Given the description of an element on the screen output the (x, y) to click on. 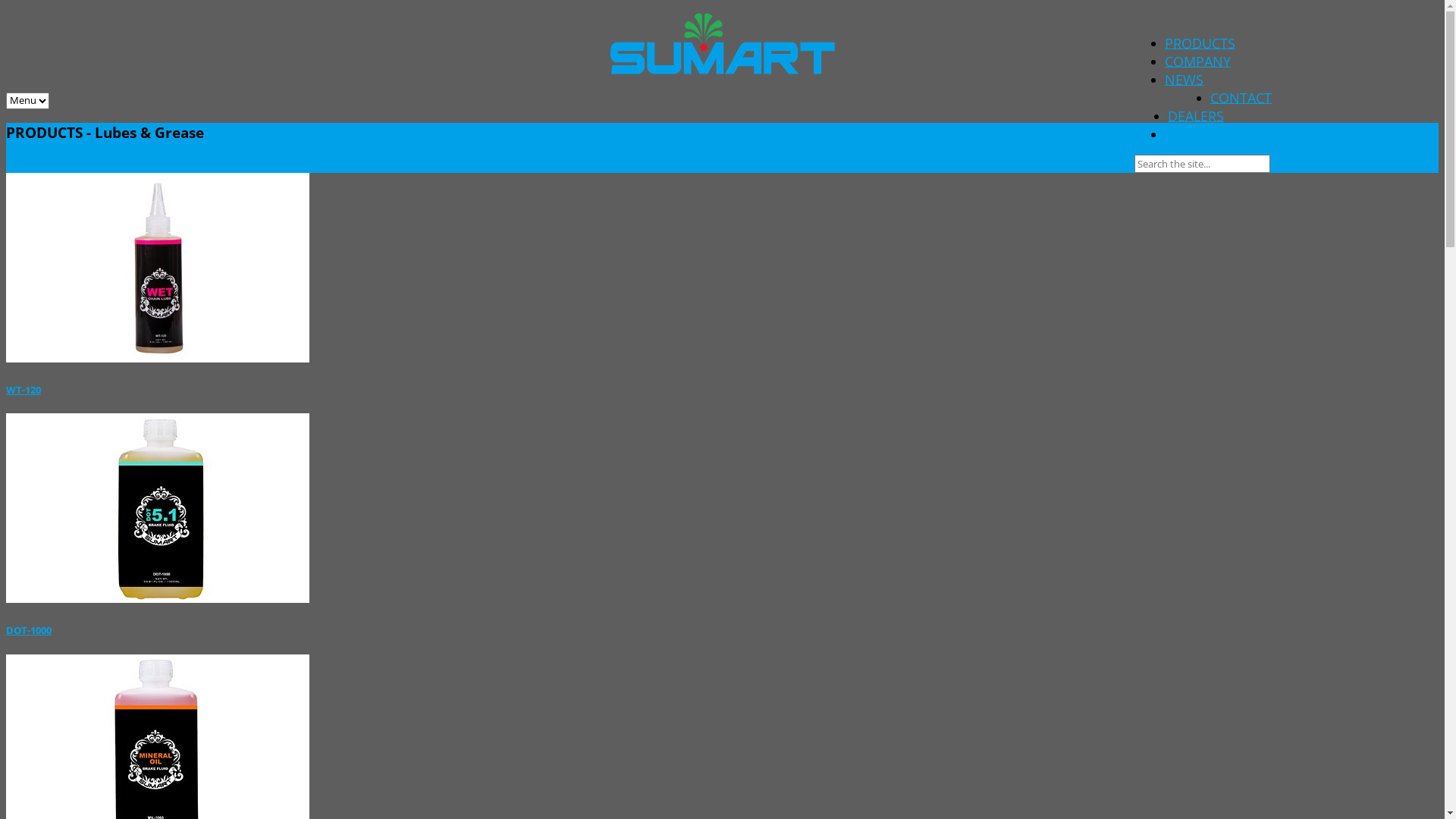
NEWSLETTER Element type: text (1206, 131)
DEALERS Element type: text (1195, 113)
Home Element type: text (23, 164)
CONTACT Element type: text (1240, 94)
COMPANY Element type: text (1197, 58)
DOT-1000 Element type: text (28, 630)
NEWS Element type: text (1183, 76)
WT-120 Element type: text (23, 389)
